Given the description of an element on the screen output the (x, y) to click on. 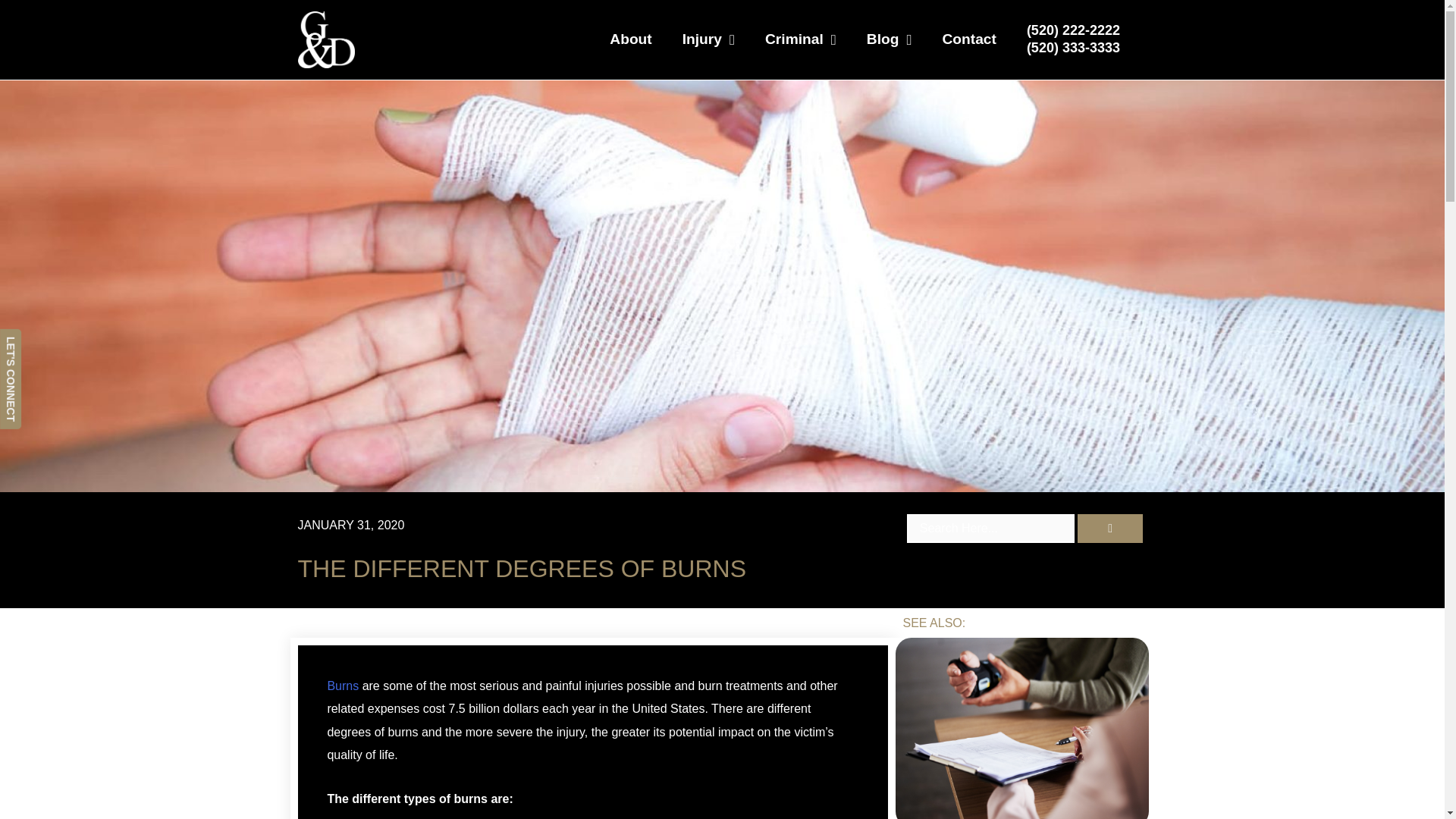
Contact (968, 39)
Injury (707, 39)
About (630, 39)
Criminal (800, 39)
Blog (889, 39)
